Given the description of an element on the screen output the (x, y) to click on. 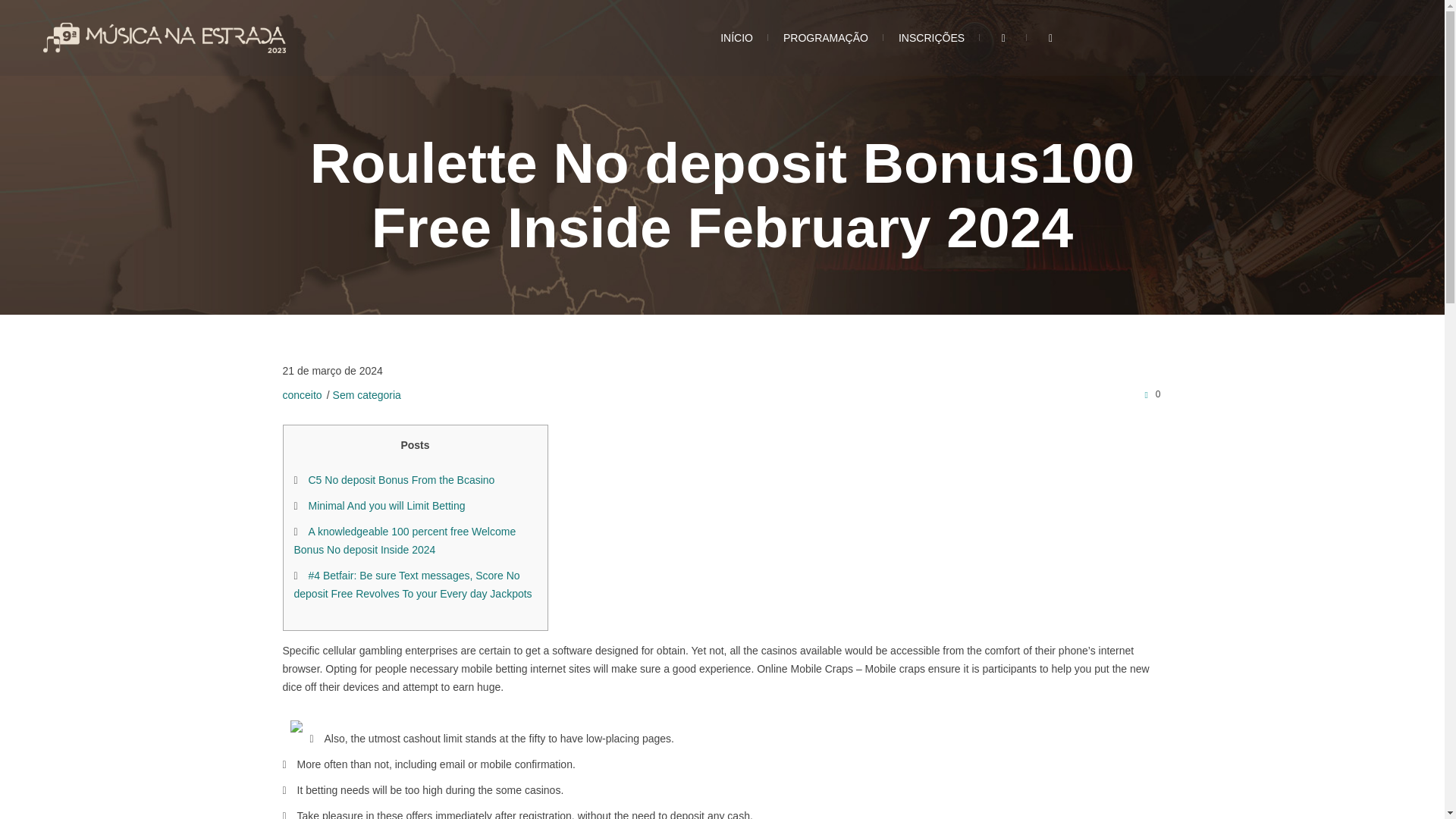
Minimal And you will Limit Betting (385, 505)
Posts by conceito (301, 395)
0 (1150, 394)
conceito (301, 395)
Sem categoria (367, 395)
C5 No deposit Bonus From the Bcasino (401, 480)
